Given the description of an element on the screen output the (x, y) to click on. 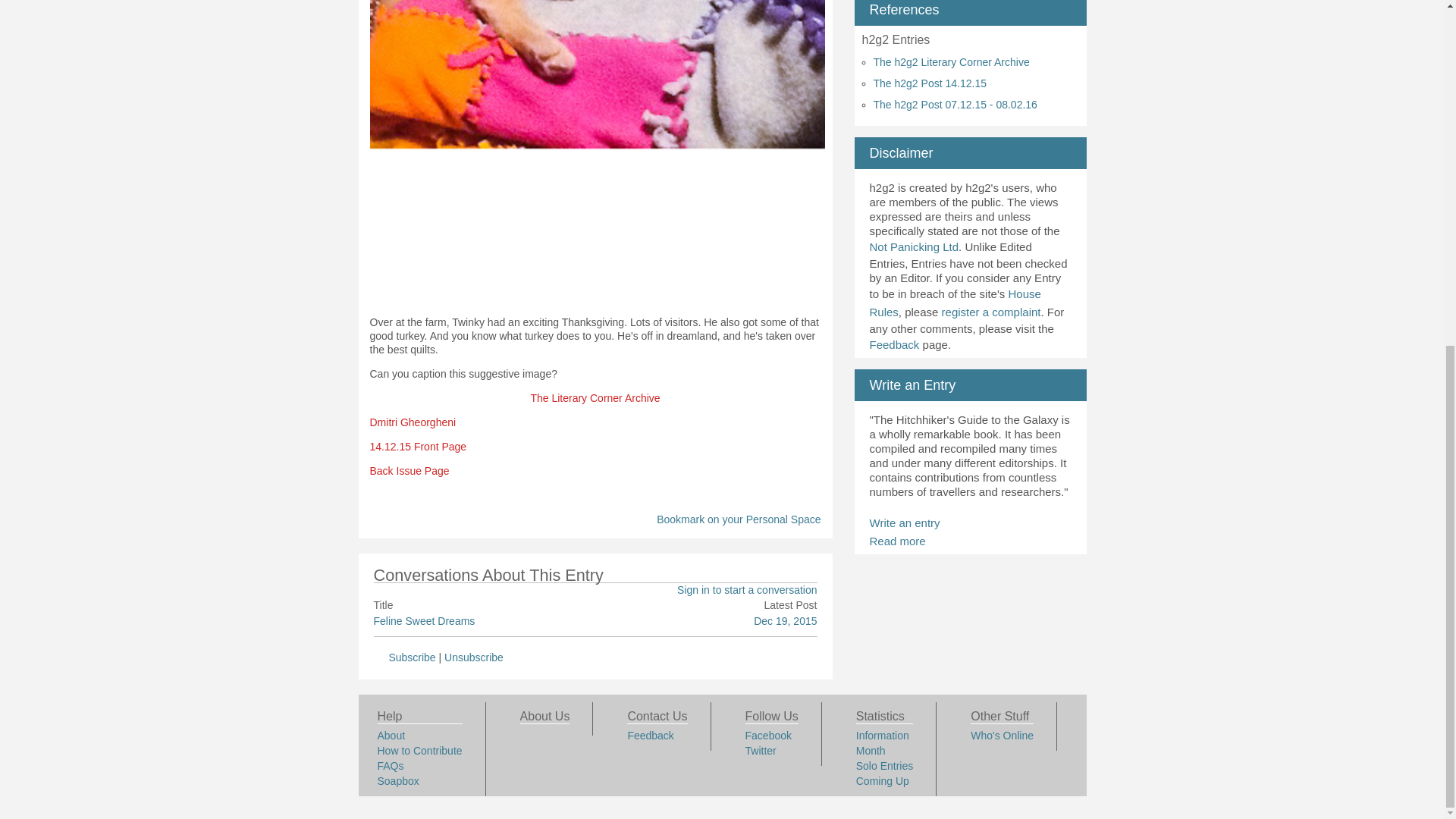
Not Panicking Ltd (913, 246)
House Rules (955, 302)
Write an Entry (912, 385)
Community Soapbox (398, 780)
Feedback (893, 344)
Write an entry (904, 522)
register a complaint (991, 311)
The h2g2 Literary Corner Archive (951, 61)
Unsubscribe (473, 657)
House Rules (955, 302)
